Given the description of an element on the screen output the (x, y) to click on. 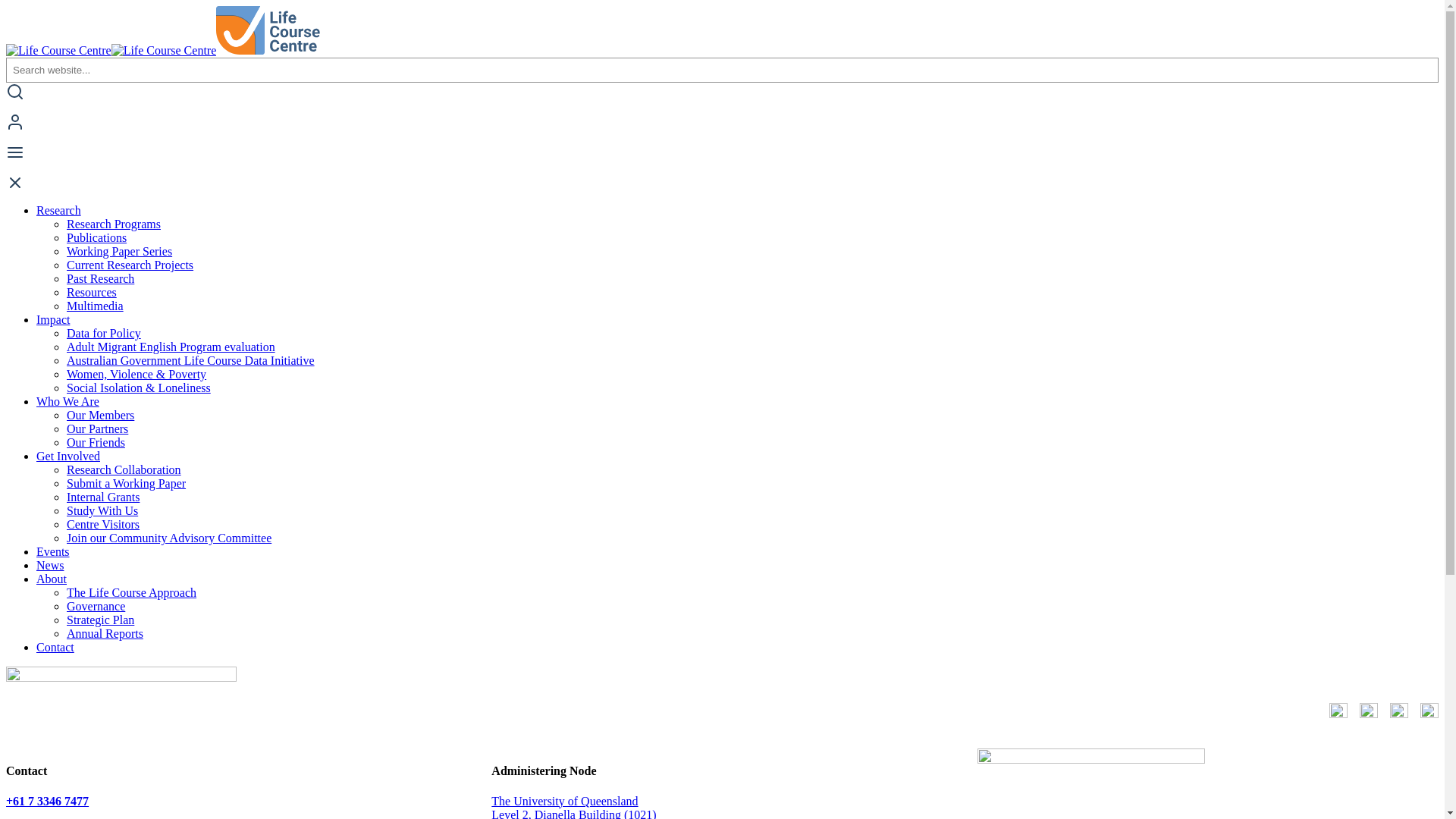
Contact Element type: text (55, 646)
Centre Visitors Element type: text (102, 523)
Adult Migrant English Program evaluation Element type: text (170, 346)
Australian Government Life Course Data Initiative Element type: text (190, 360)
Impact Element type: text (52, 319)
Who We Are Element type: text (67, 401)
Resources Element type: text (91, 291)
Strategic Plan Element type: text (100, 619)
Social Isolation & Loneliness Element type: text (138, 387)
Join our Community Advisory Committee Element type: text (168, 537)
Current Research Projects Element type: text (129, 264)
Multimedia Element type: text (94, 305)
Our Members Element type: text (100, 414)
Women, Violence & Poverty Element type: text (136, 373)
Submit a Working Paper Element type: text (125, 482)
The Life Course Approach Element type: text (131, 592)
Our Partners Element type: text (97, 428)
Annual Reports Element type: text (104, 633)
Working Paper Series Element type: text (119, 250)
+61 7 3346 7477 Element type: text (47, 800)
News Element type: text (49, 564)
Research Collaboration Element type: text (123, 469)
Get Involved Element type: text (68, 455)
Research Programs Element type: text (113, 223)
Data for Policy Element type: text (103, 332)
Publications Element type: text (96, 237)
Study With Us Element type: text (102, 510)
About Element type: text (51, 578)
Research Element type: text (58, 209)
Internal Grants Element type: text (102, 496)
Our Friends Element type: text (95, 442)
Past Research Element type: text (100, 278)
Governance Element type: text (95, 605)
Events Element type: text (52, 551)
